Given the description of an element on the screen output the (x, y) to click on. 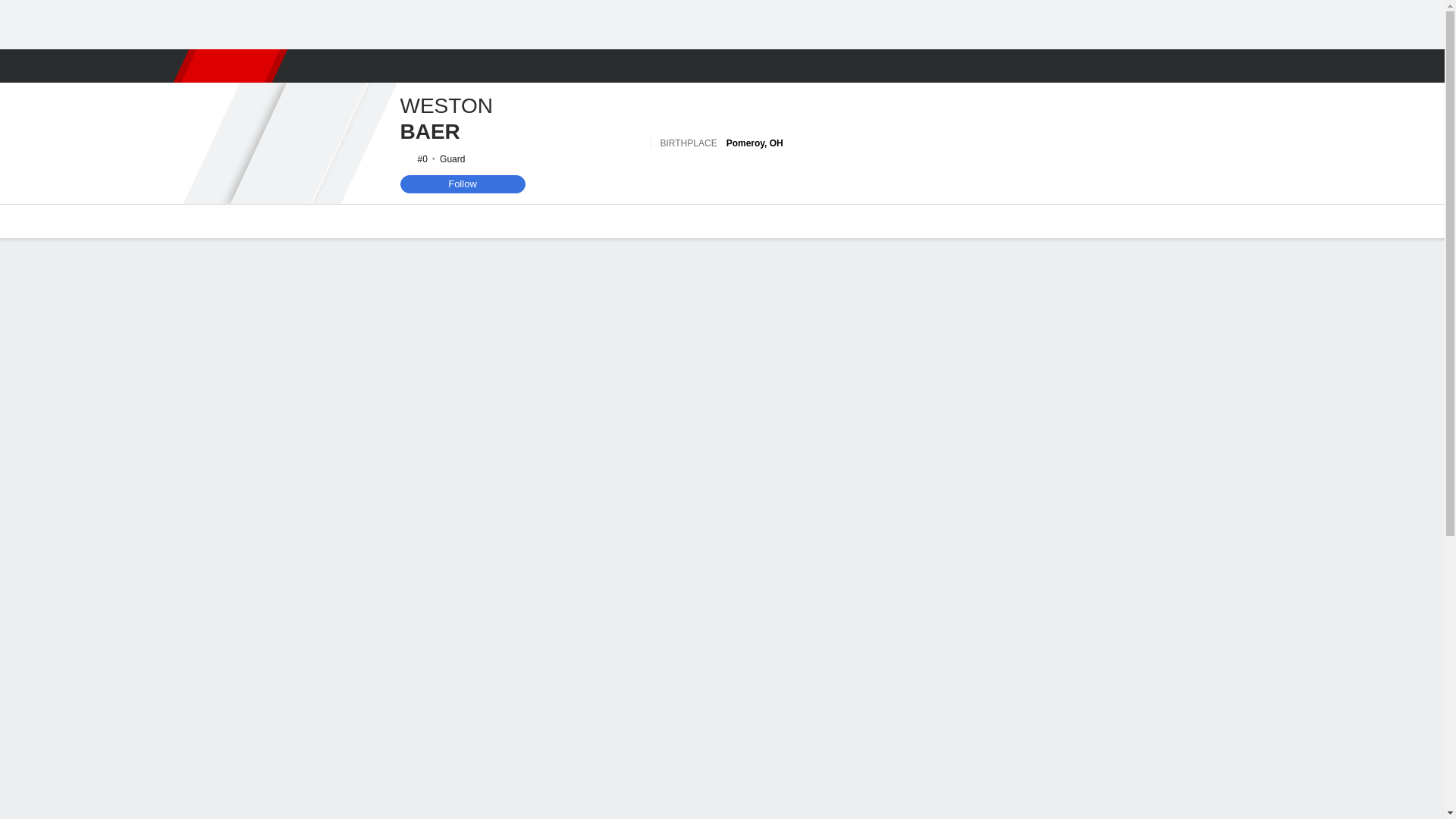
Follow (462, 184)
ESPN (229, 65)
